Given the description of an element on the screen output the (x, y) to click on. 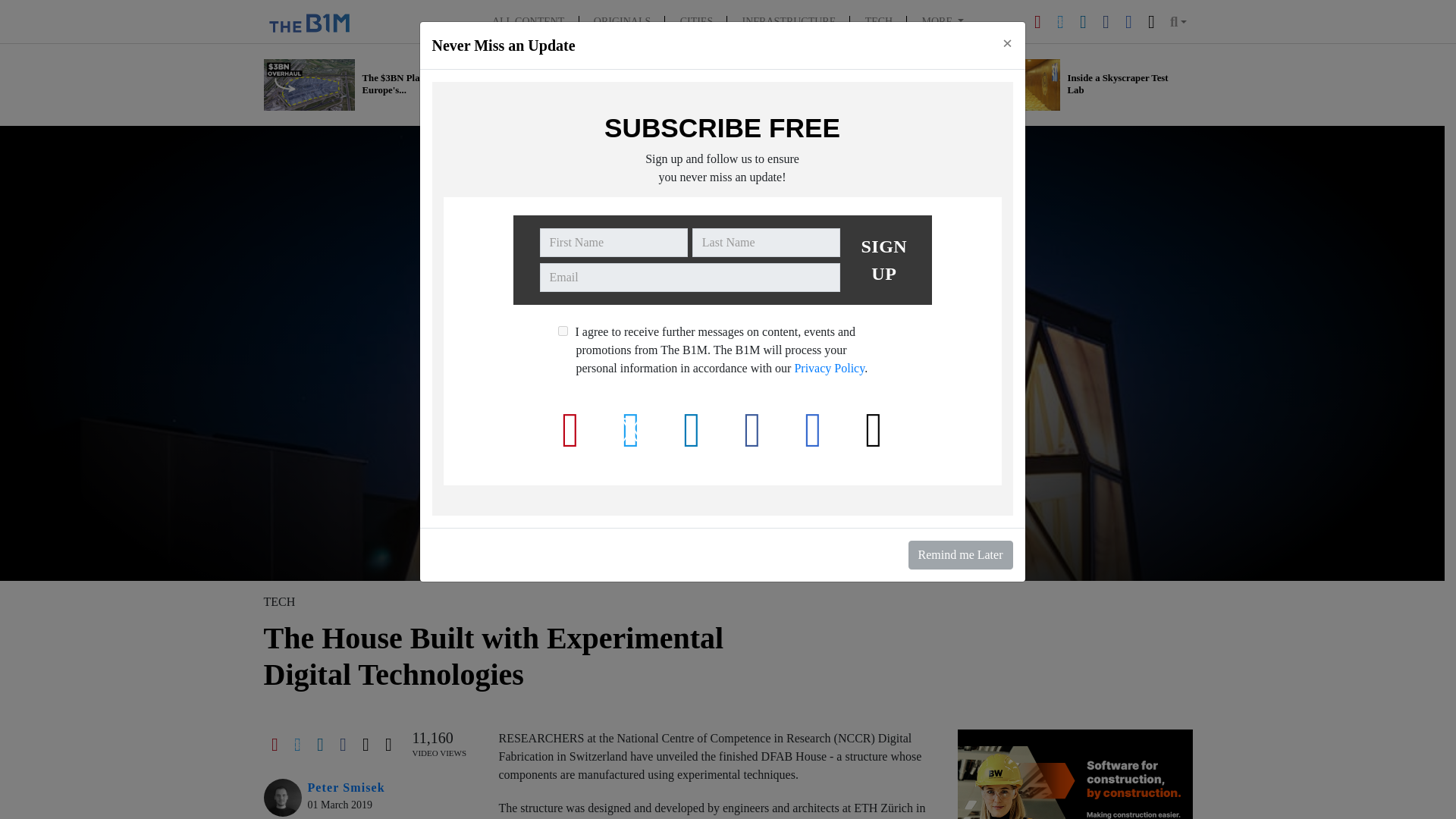
CITIES (695, 21)
INFRASTRUCTURE (788, 21)
Link to the B1M Facebook profile (1105, 20)
Link to the B1M Instagram profile (1128, 20)
item (562, 330)
Link to the B1M Tiktok profile (1150, 20)
MORE (942, 21)
ORIGINALS (622, 21)
Link to the B1M Youtube channel (1037, 20)
Link to the B1M Linkedin profile (1082, 20)
TECH (878, 21)
ALL CONTENT (528, 21)
Link to the B1M Twitter profile (1059, 20)
